Given the description of an element on the screen output the (x, y) to click on. 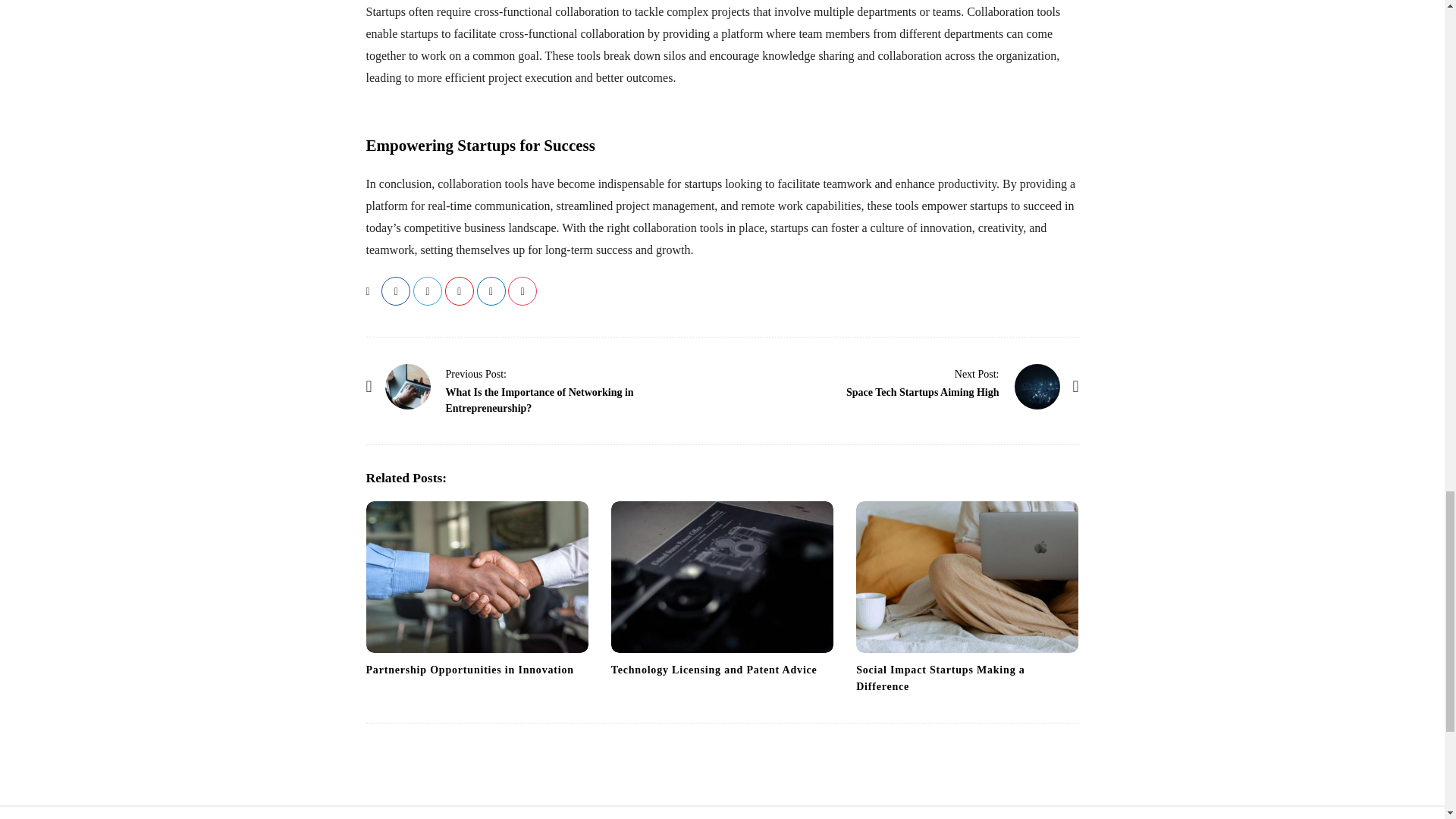
Partnership Opportunities in Innovation (469, 669)
What Is the Importance of Networking in Entrepreneurship? (539, 400)
Technology Licensing and Patent Advice (713, 669)
Space Tech Startups Aiming High (921, 392)
Next Post: (976, 373)
Social Impact Startups Making a Difference (940, 678)
Technology Licensing and Patent Advice (721, 576)
Space Tech Startups Aiming High (1036, 386)
Previous Post: (475, 373)
Partnership Opportunities in Innovation (476, 576)
Social Impact Startups Making a Difference (940, 678)
Social Impact Startups Making a Difference (967, 576)
What Is the Importance of Networking in Entrepreneurship? (407, 386)
Technology Licensing and Patent Advice (713, 669)
Partnership Opportunities in Innovation (469, 669)
